Given the description of an element on the screen output the (x, y) to click on. 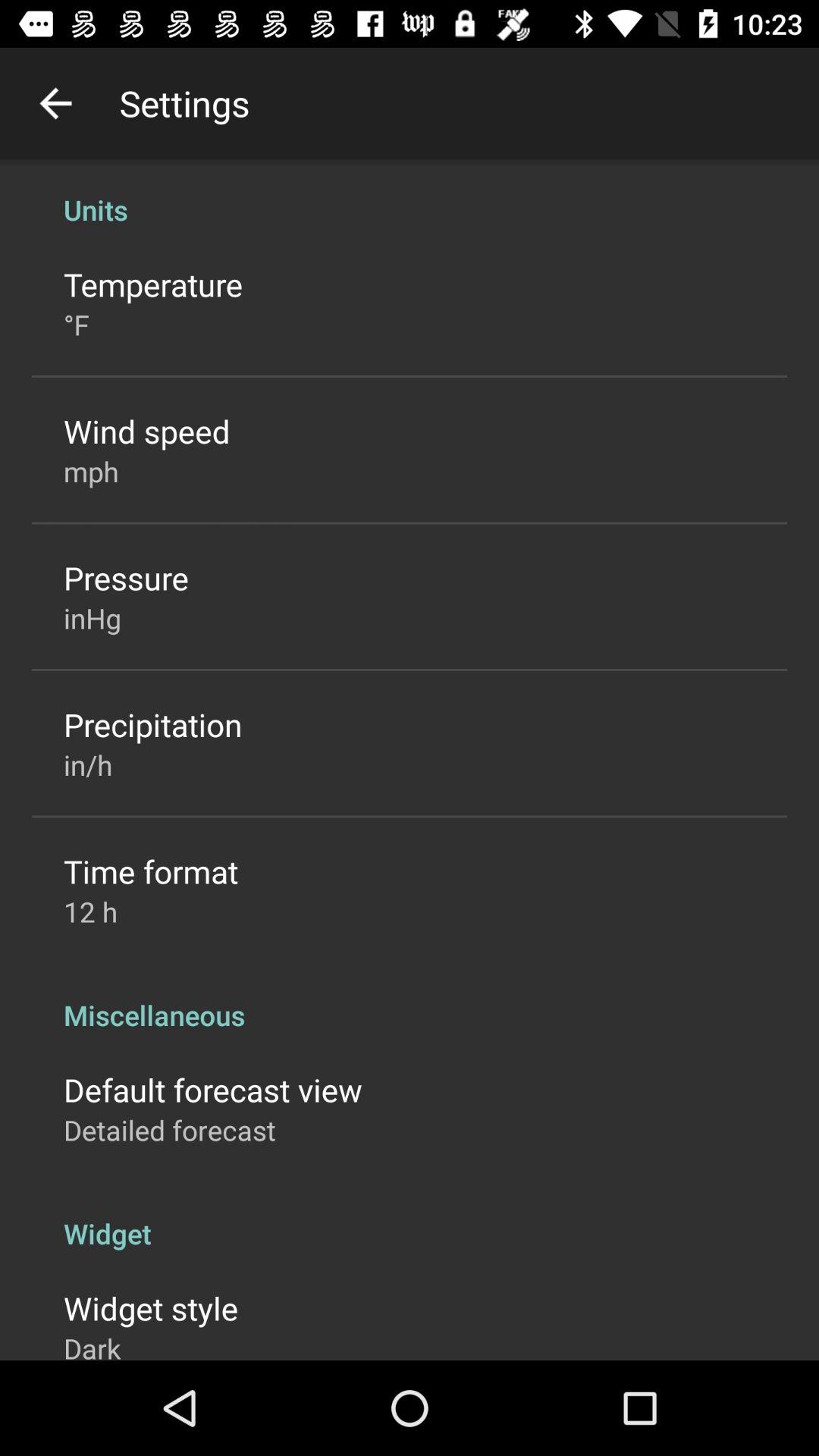
launch default forecast view icon (212, 1089)
